Given the description of an element on the screen output the (x, y) to click on. 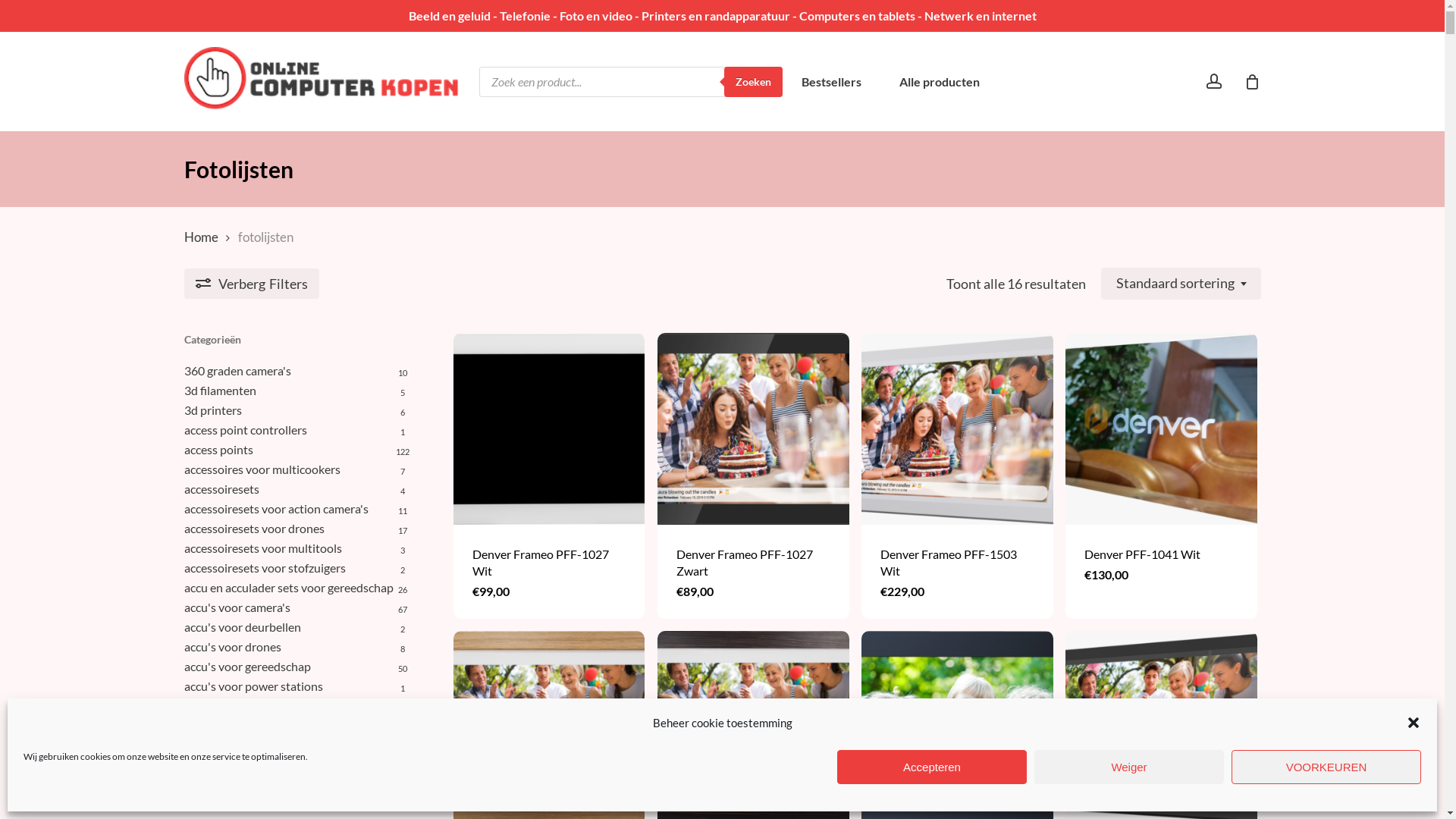
Accepteren Element type: text (931, 766)
Denver PFF-1041 Wit Element type: text (1161, 553)
Verberg
Filters Element type: text (250, 283)
3d filamenten Element type: text (296, 390)
achtergronddoeken Element type: text (296, 784)
acculaders voor gereedschap Element type: text (296, 764)
achtergrondsystemen Element type: text (296, 804)
Telefonie Element type: text (523, 15)
VOORKEUREN Element type: text (1326, 766)
access point controllers Element type: text (296, 429)
Alle producten Element type: text (939, 81)
Denver Frameo PFF-1027 Zwart Element type: text (753, 562)
accu's voor drones Element type: text (296, 646)
Computers en tablets Element type: text (857, 15)
accessoiresets voor multitools Element type: text (296, 547)
accessoiresets voor drones Element type: text (296, 528)
Bestsellers Element type: text (830, 81)
Denver Frameo PFF-1027 Wit Element type: text (548, 562)
360 graden camera's Element type: text (296, 370)
3d printers Element type: text (296, 409)
account Element type: text (1213, 81)
Zoeken Element type: text (752, 81)
Beeld en geluid Element type: text (448, 15)
accu's voor robotstofzuigers Element type: text (296, 705)
accu's voor camera's Element type: text (296, 607)
accu en acculader sets voor gereedschap Element type: text (296, 587)
accu's voor speakers Element type: text (296, 725)
accessoiresets Element type: text (296, 488)
Printers en randapparatuur Element type: text (715, 15)
access points Element type: text (296, 449)
accu's voor deurbellen Element type: text (296, 626)
accessoiresets voor action camera's Element type: text (296, 508)
Foto en video Element type: text (595, 15)
accessoiresets voor stofzuigers Element type: text (296, 567)
accu's voor power stations Element type: text (296, 685)
Denver Frameo PFF-1503 Wit Element type: text (957, 562)
accu's voor gereedschap Element type: text (296, 666)
Weiger Element type: text (1128, 766)
accessoires voor multicookers Element type: text (296, 468)
Home Element type: text (200, 237)
accu's voor steelstofzuigers Element type: text (296, 745)
Netwerk en internet Element type: text (979, 15)
